Given the description of an element on the screen output the (x, y) to click on. 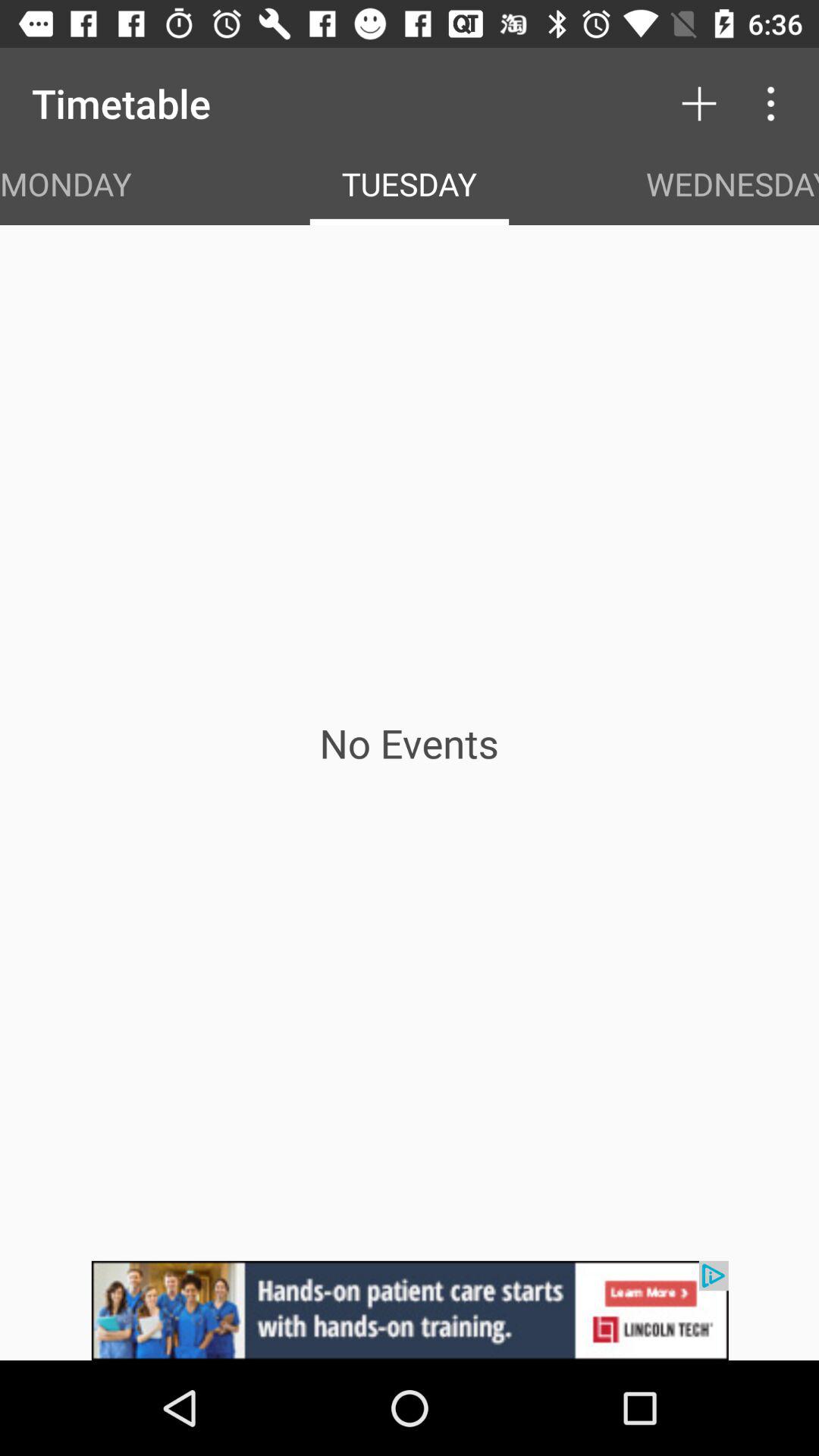
open advert (409, 1310)
